Given the description of an element on the screen output the (x, y) to click on. 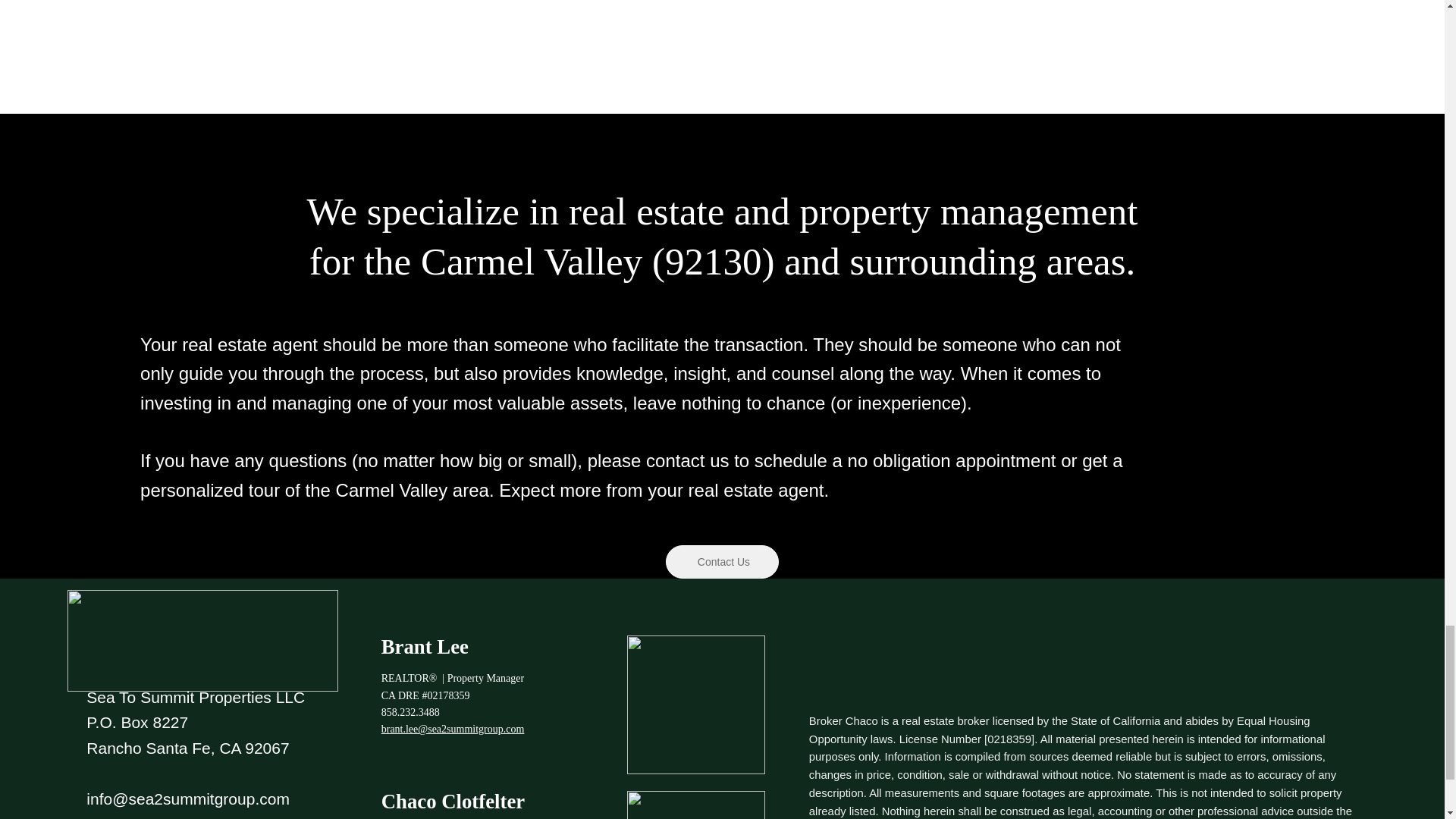
Sea To Summit Properties LLC (194, 696)
Contact Us (721, 561)
